Given the description of an element on the screen output the (x, y) to click on. 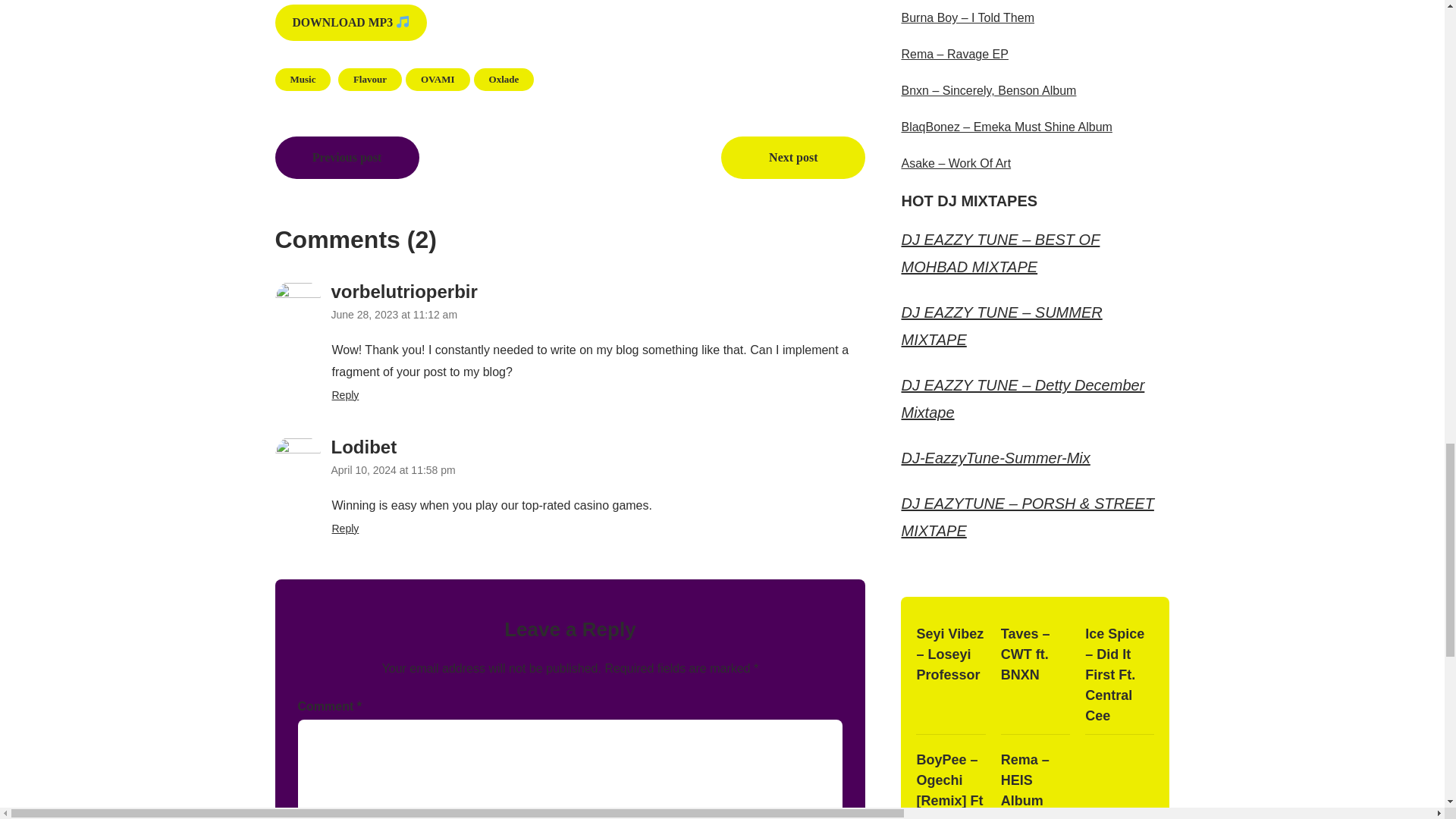
Flavour (369, 78)
vorbelutrioperbir (403, 291)
Reply (345, 528)
Music (302, 78)
April 10, 2024 at 11:58 pm (392, 469)
OVAMI (438, 78)
June 28, 2023 at 11:12 am (393, 314)
Previous post (347, 157)
Oxlade (504, 78)
DOWNLOAD MP3 (350, 22)
Reply (345, 395)
Next post (792, 157)
Lodibet (363, 446)
